Given the description of an element on the screen output the (x, y) to click on. 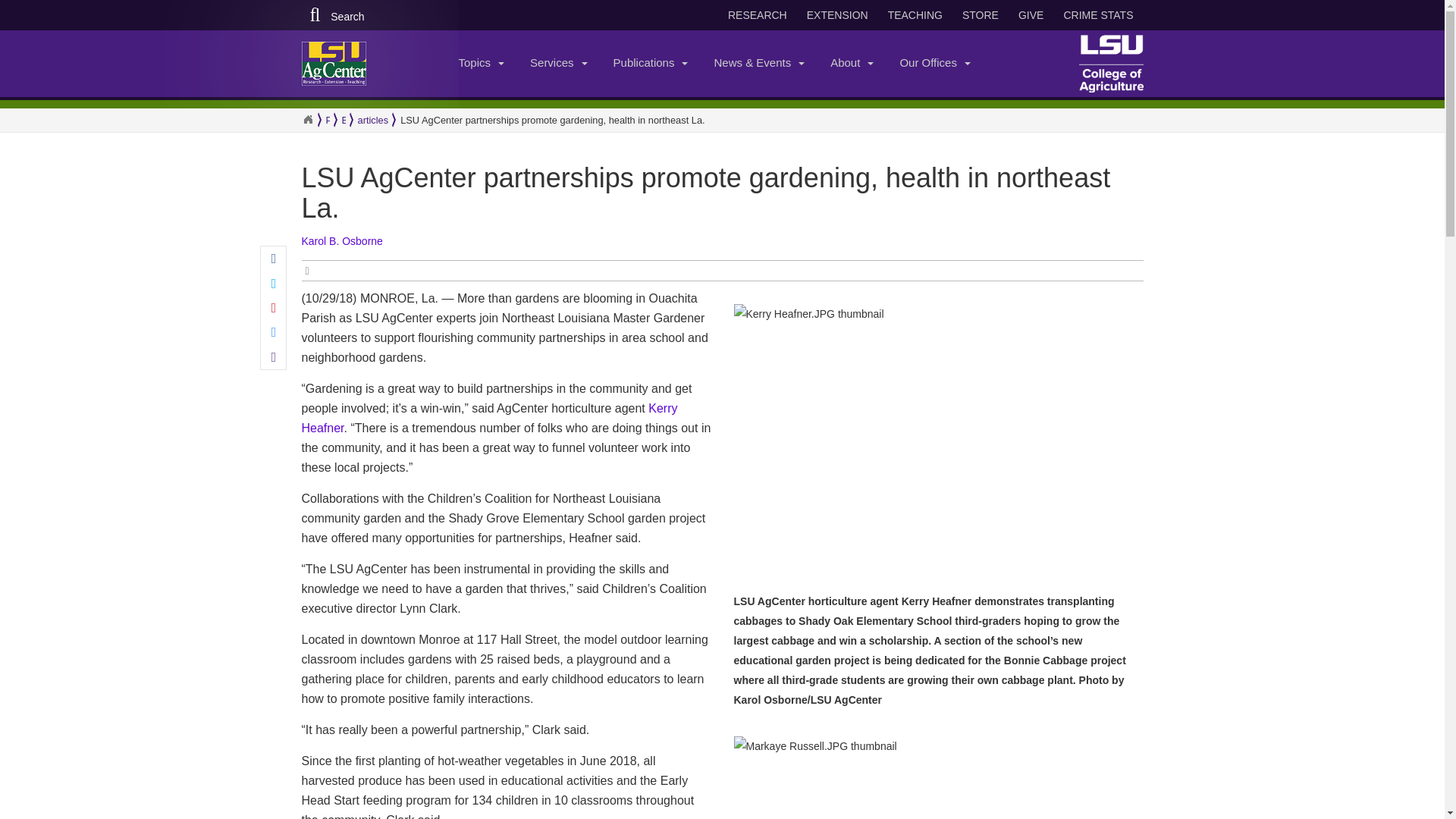
Store (980, 14)
Crime Stats - LSU AgCenter (1097, 14)
Extension (837, 14)
Research (757, 14)
Give to LSU AgCenter (1030, 14)
Teaching (915, 14)
